Given the description of an element on the screen output the (x, y) to click on. 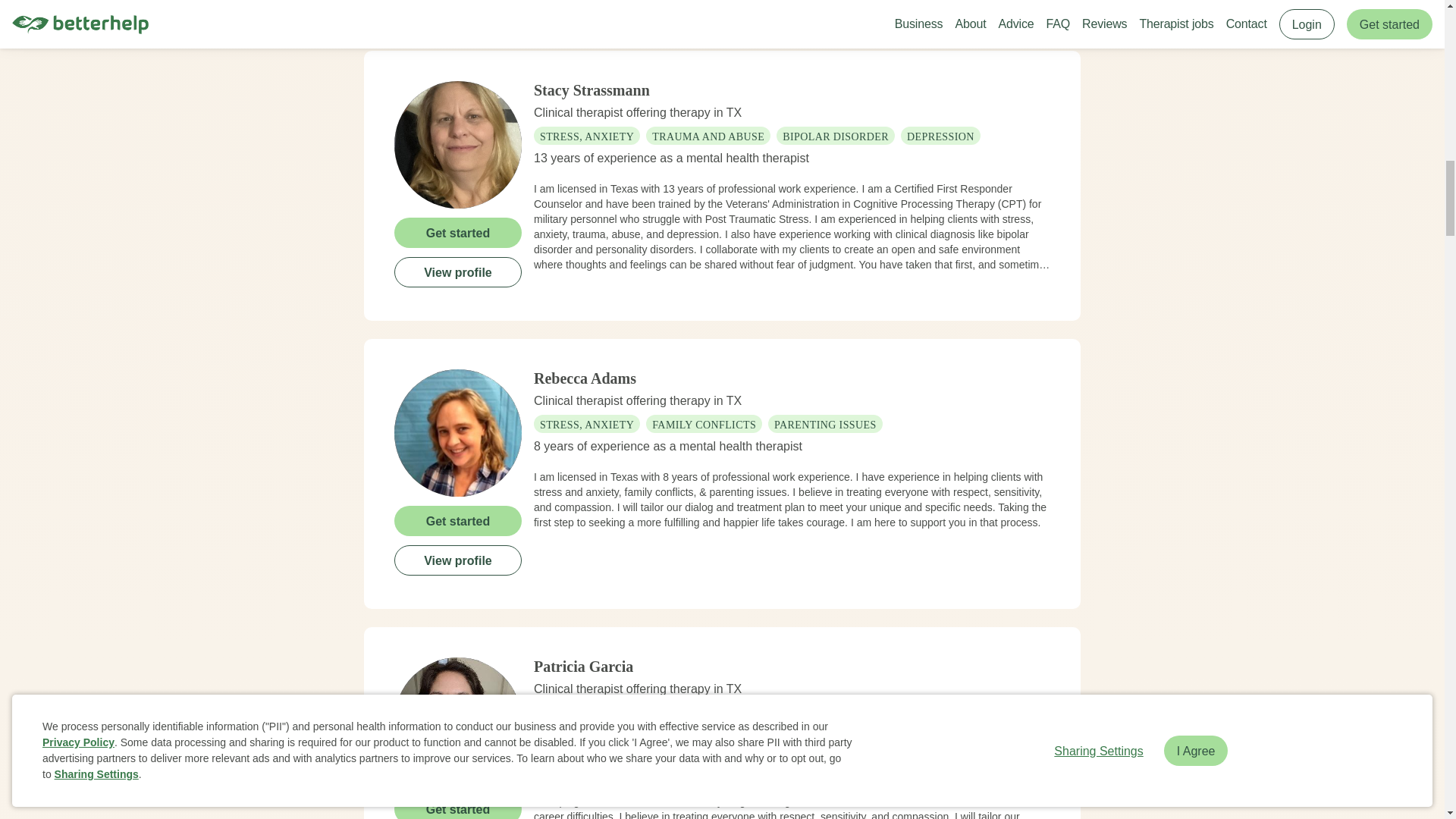
Get started (457, 232)
Get started (457, 806)
View profile (457, 271)
Click here to view Stacy Strassmann's profile 1 (457, 144)
Get started (457, 520)
View profile (457, 559)
